Given the description of an element on the screen output the (x, y) to click on. 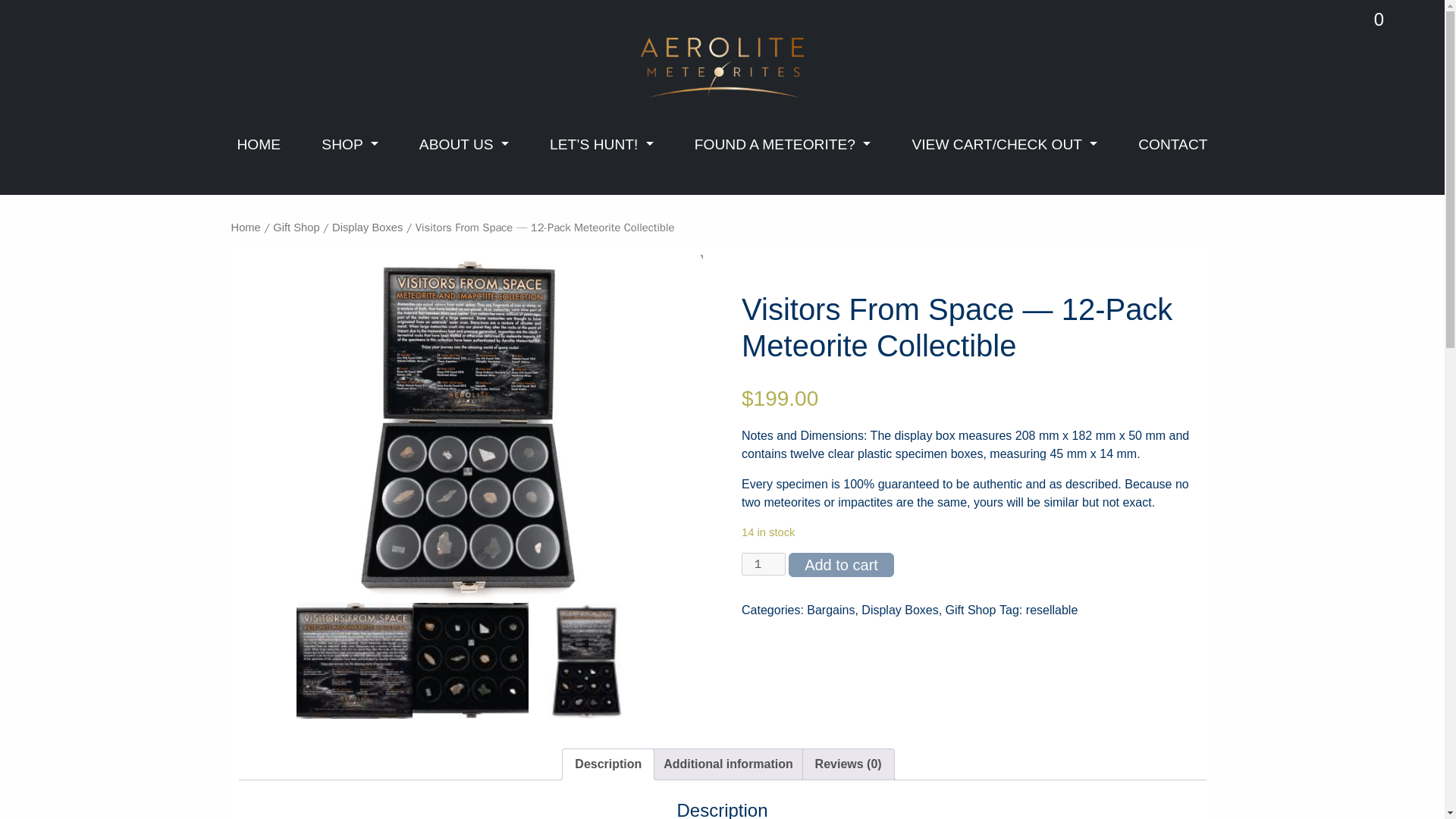
ABOUT US (464, 144)
Aerolite Meteorites (722, 67)
1 (763, 563)
SHOP (349, 144)
SHOP (349, 144)
HOME (258, 144)
HOME (258, 144)
